Given the description of an element on the screen output the (x, y) to click on. 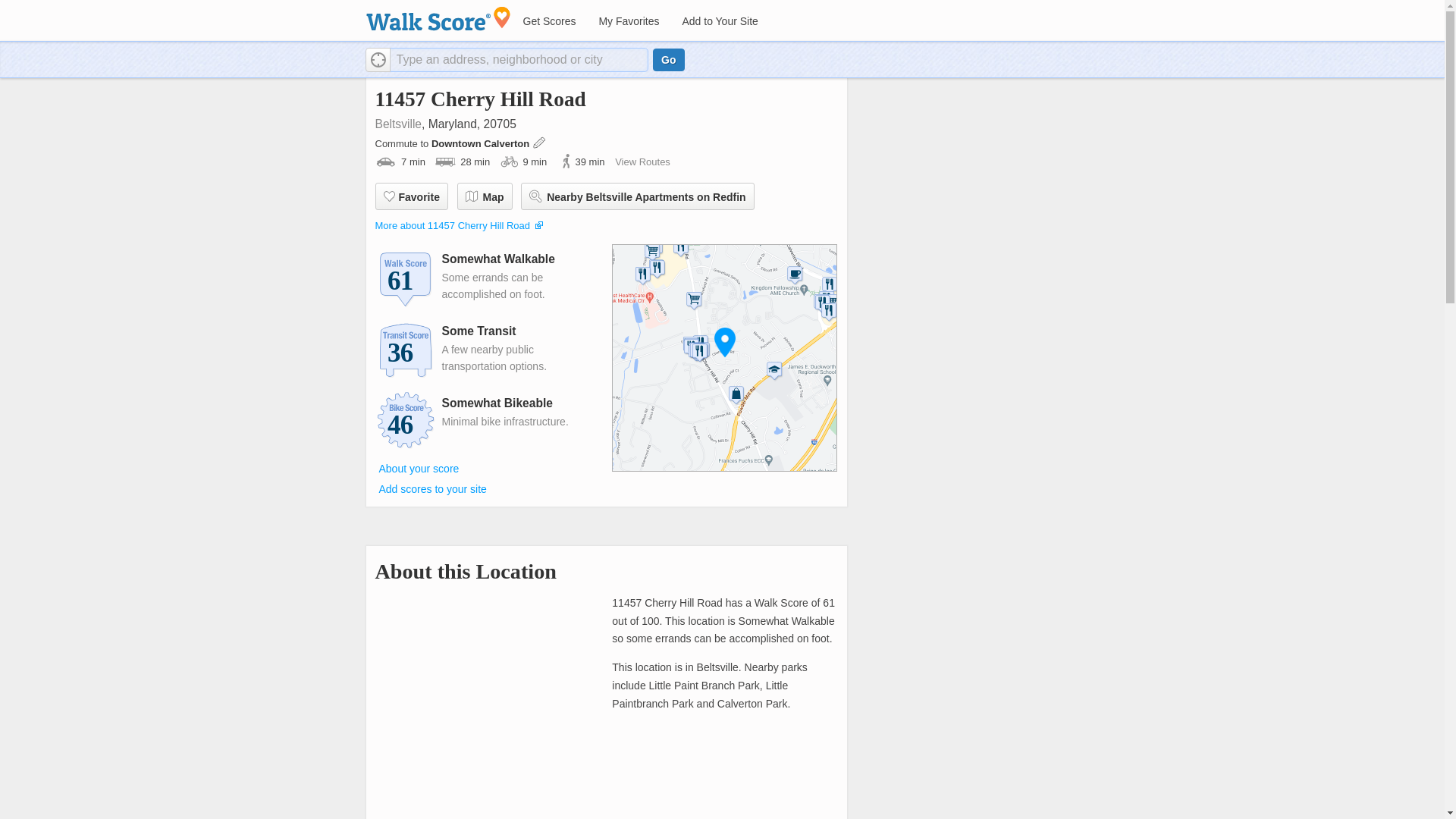
Favorite (410, 195)
Downtown Calverton (481, 143)
Get Scores (548, 21)
Nearby Beltsville Apartments on Redfin (637, 195)
Beltsville (398, 123)
My Favorites (628, 21)
Add to Your Site (719, 21)
More about 11457 Cherry Hill Road (451, 225)
Map (484, 195)
View Routes (641, 161)
About your score (419, 468)
Go (668, 59)
Add scores to your site (432, 489)
